Given the description of an element on the screen output the (x, y) to click on. 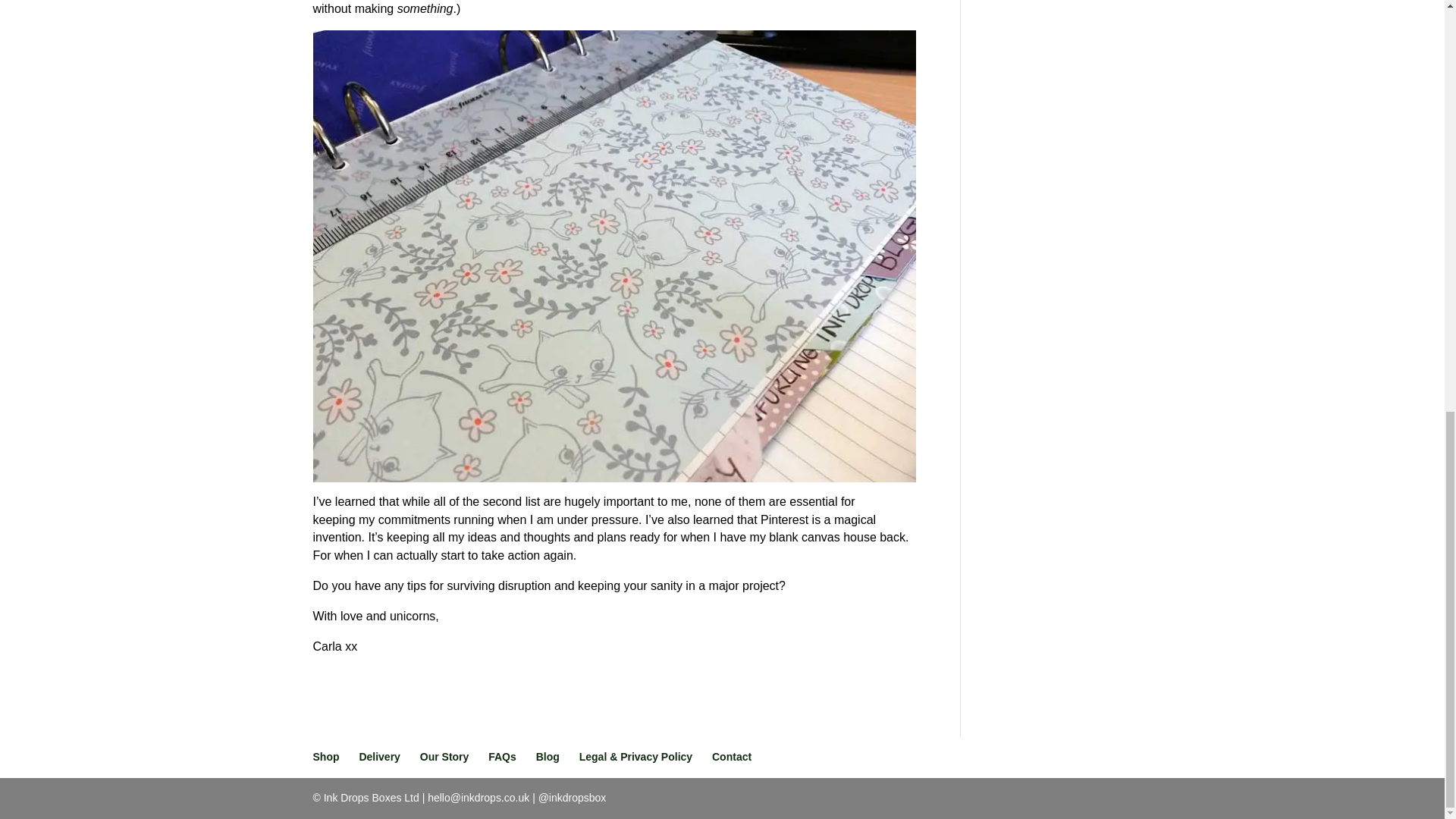
Contact (731, 756)
Shop (326, 756)
Our Story (444, 756)
FAQs (501, 756)
Delivery (378, 756)
Blog (547, 756)
